Given the description of an element on the screen output the (x, y) to click on. 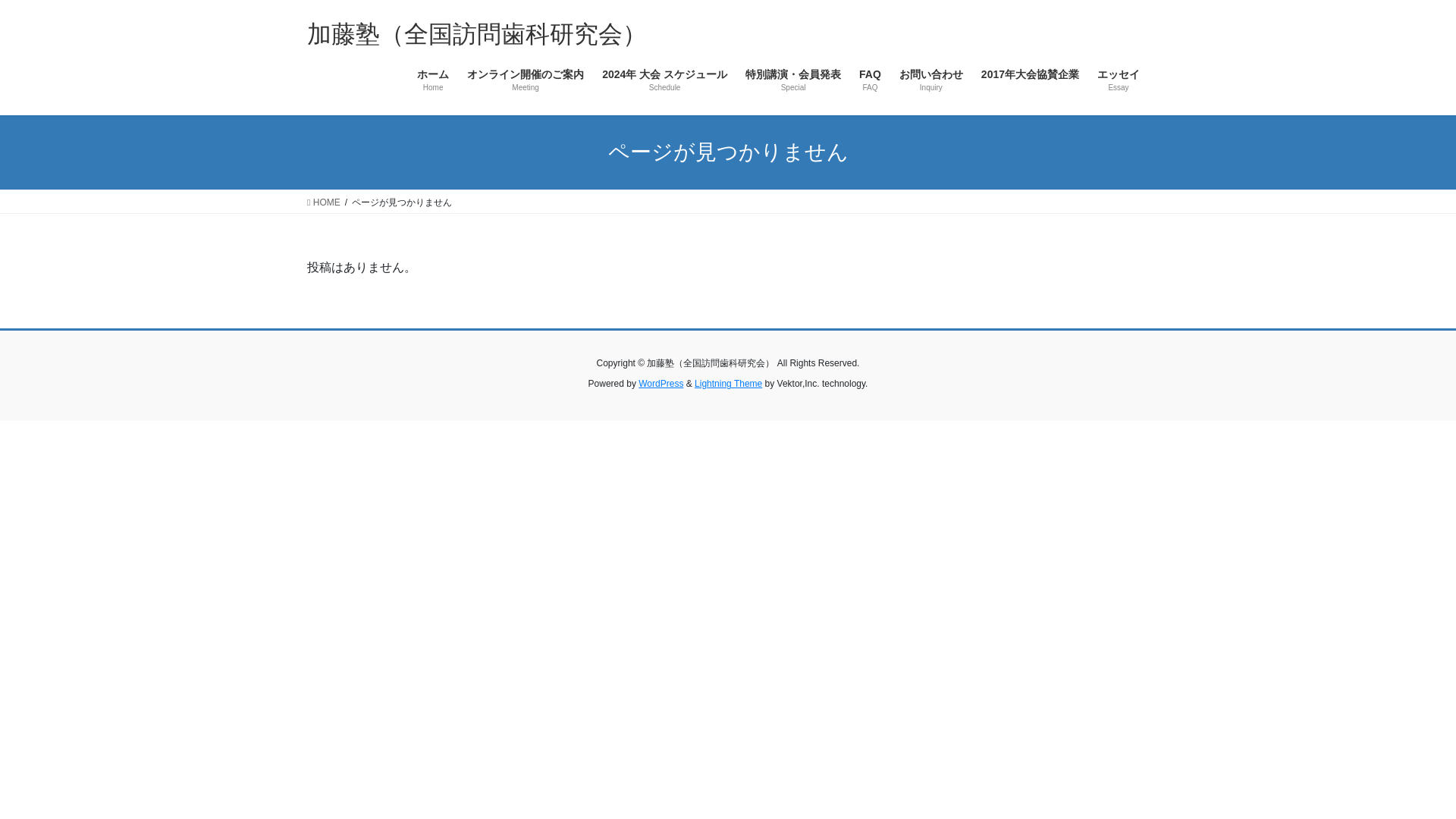
WordPress (660, 383)
Free WordPress Theme Lightning (727, 383)
Lightning Theme (727, 383)
HOME (323, 201)
